Given the description of an element on the screen output the (x, y) to click on. 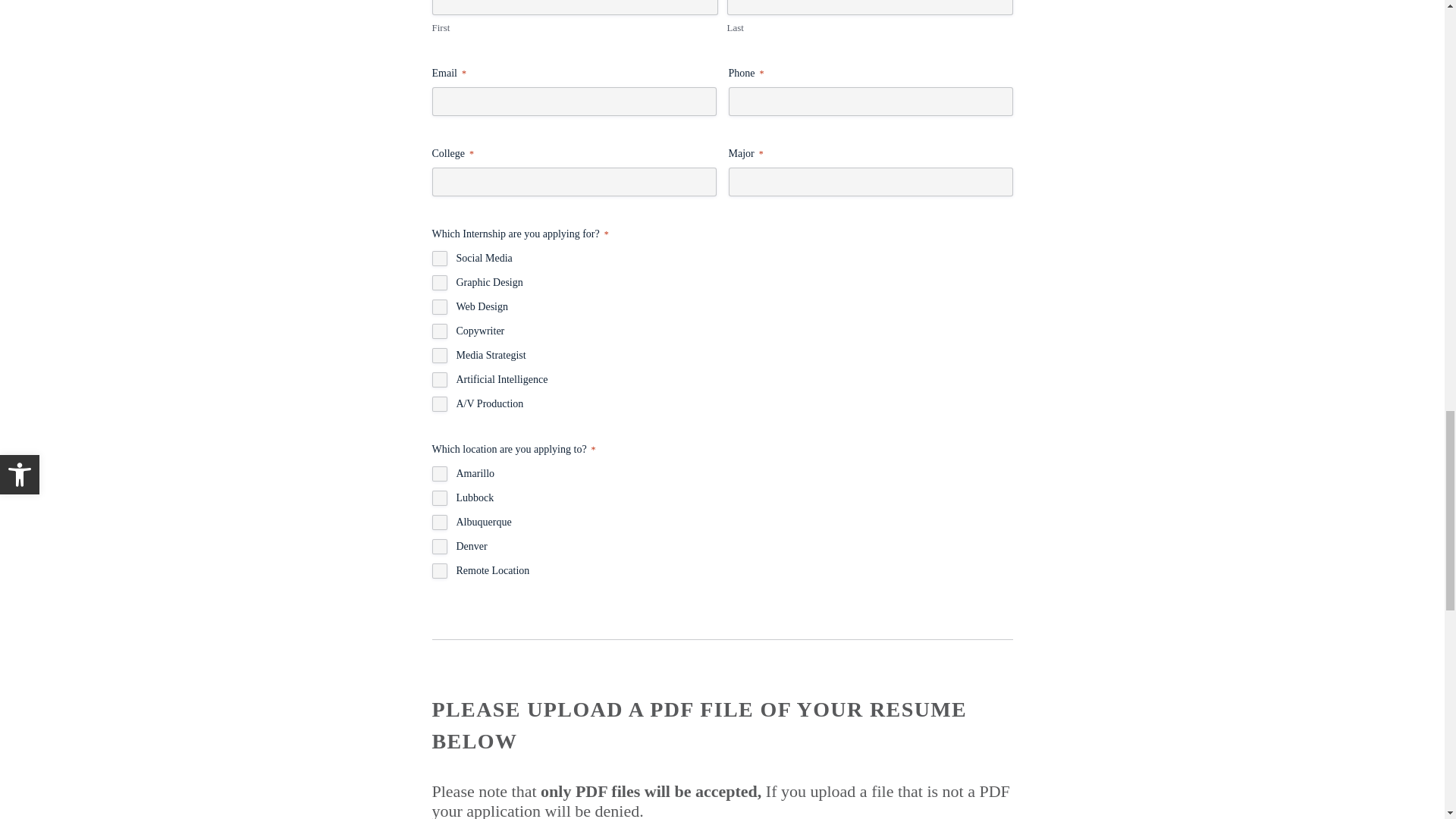
Graphic Design (439, 282)
Denver (439, 546)
Remote Location (439, 570)
Web Design (439, 306)
Media Strategist (439, 355)
Amarillo (439, 473)
Albuquerque (439, 522)
Lubbock (439, 498)
Copywriter (439, 331)
Social Media (439, 258)
Artificial Intelligence (439, 379)
